Given the description of an element on the screen output the (x, y) to click on. 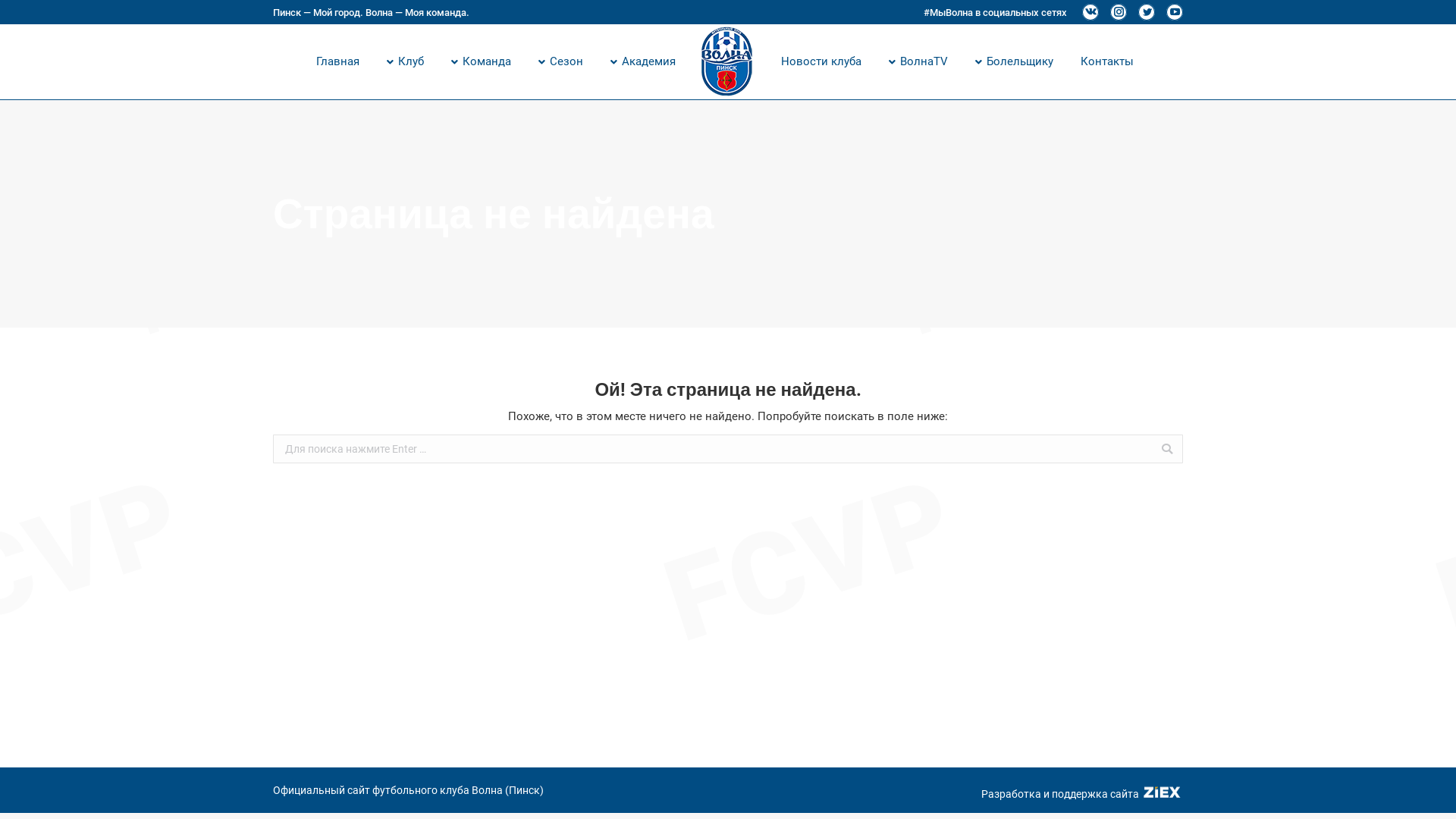
Instagram Element type: text (1118, 11)
YouTube Element type: text (1174, 11)
Twitter Element type: text (1146, 11)
